Given the description of an element on the screen output the (x, y) to click on. 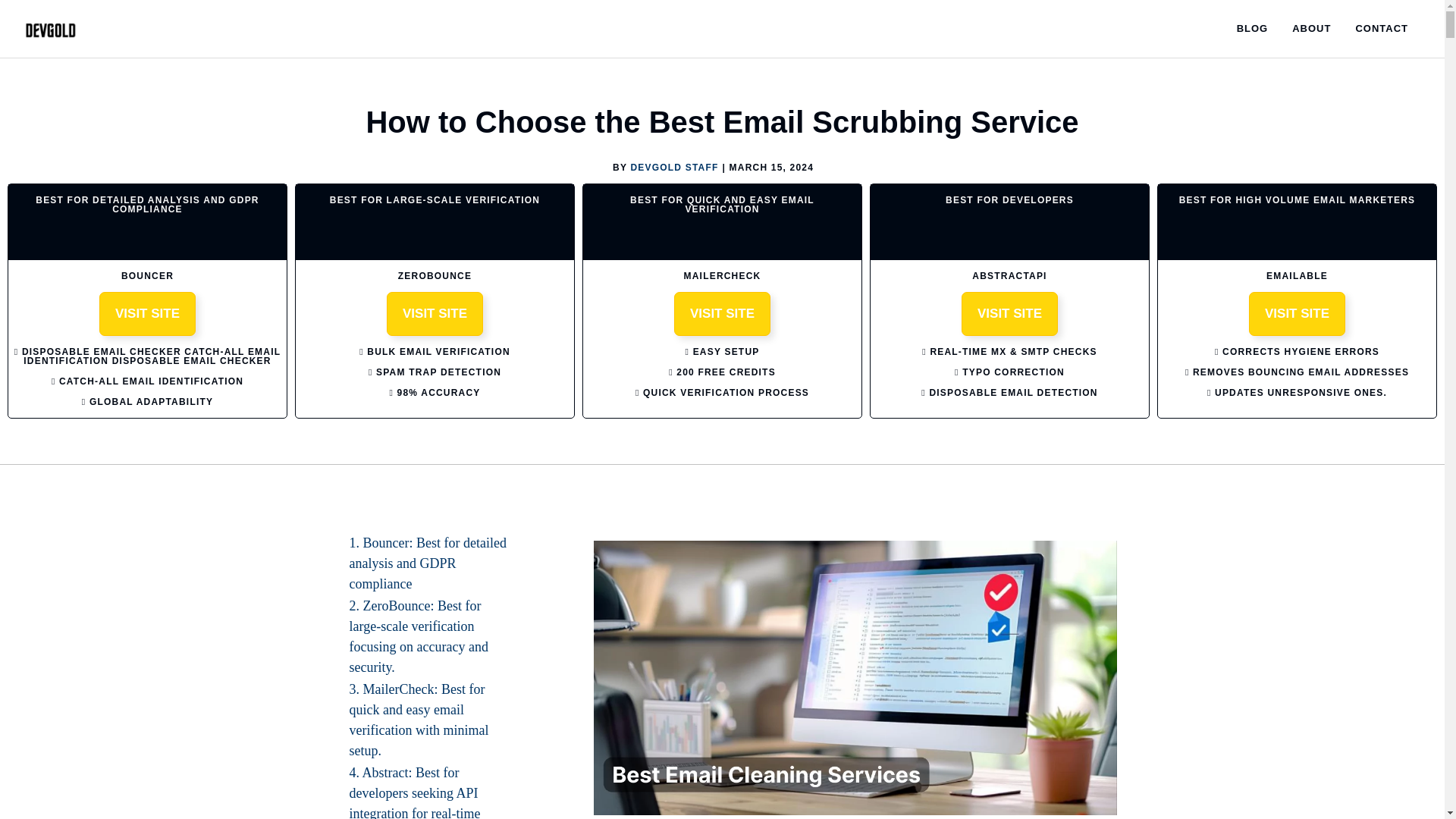
VISIT SITE (1009, 313)
ABOUT (1310, 28)
VISIT SITE (1297, 313)
DEVGOLD STAFF (673, 167)
CONTACT (1381, 28)
BLOG (1252, 28)
VISIT SITE (147, 313)
VISIT SITE (435, 313)
VISIT SITE (722, 313)
